Given the description of an element on the screen output the (x, y) to click on. 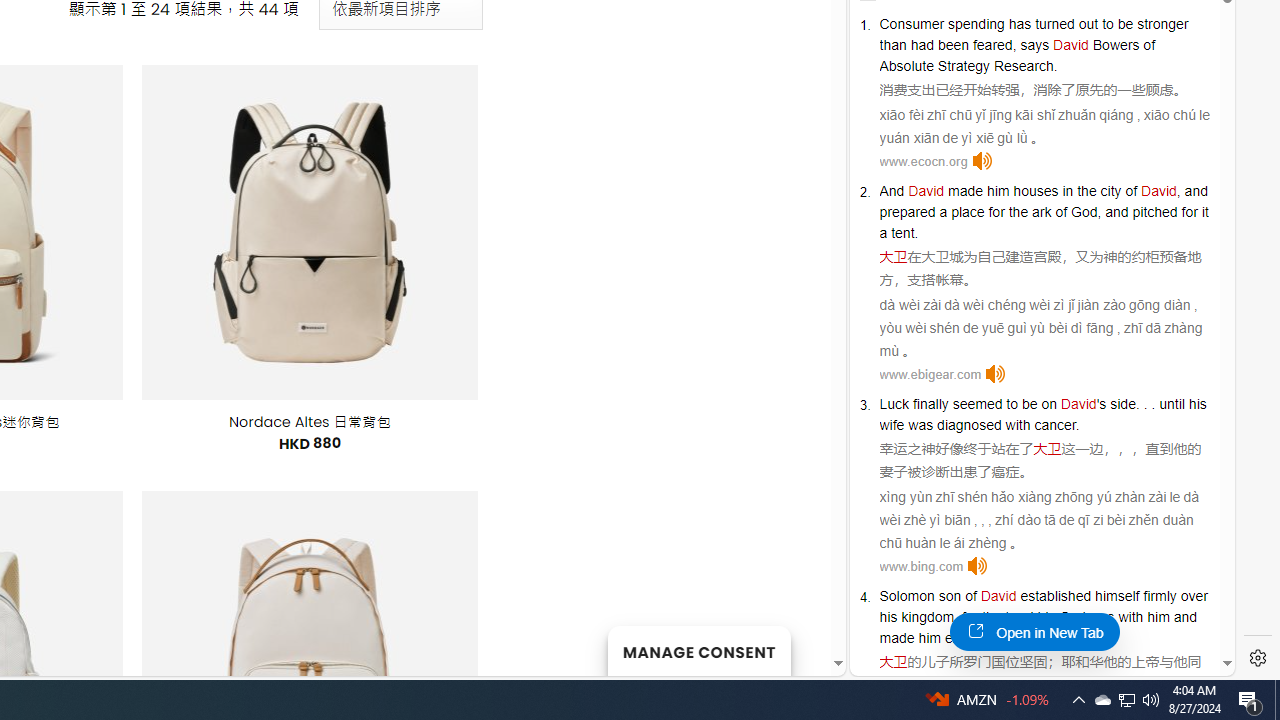
his (1197, 403)
wife (891, 424)
great (1037, 637)
MANAGE CONSENT (698, 650)
www.ecocn.org (923, 161)
diagnosed (969, 424)
kingdom (927, 616)
him (928, 637)
And (891, 190)
